Given the description of an element on the screen output the (x, y) to click on. 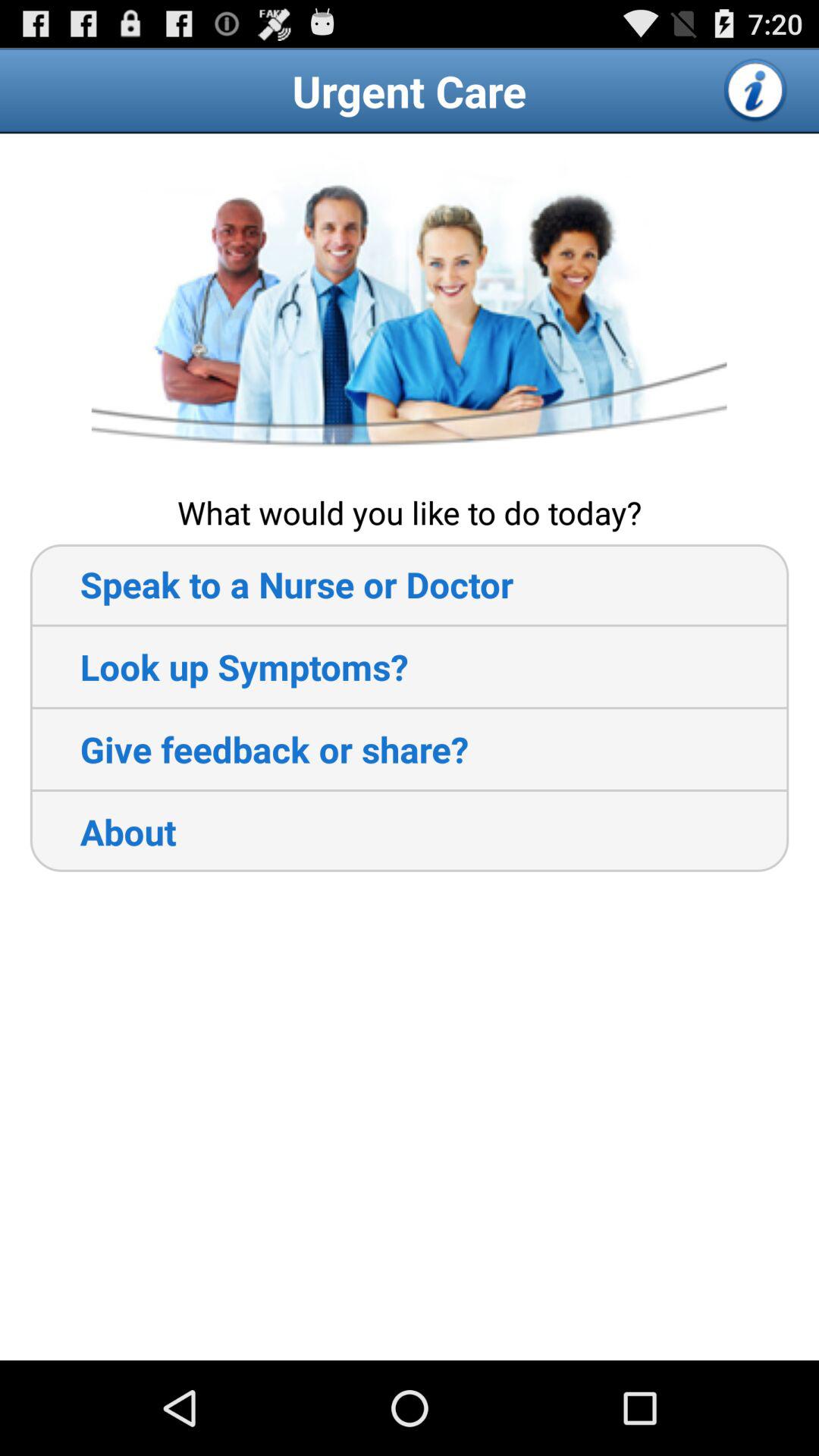
select the item below give feedback or item (103, 831)
